Given the description of an element on the screen output the (x, y) to click on. 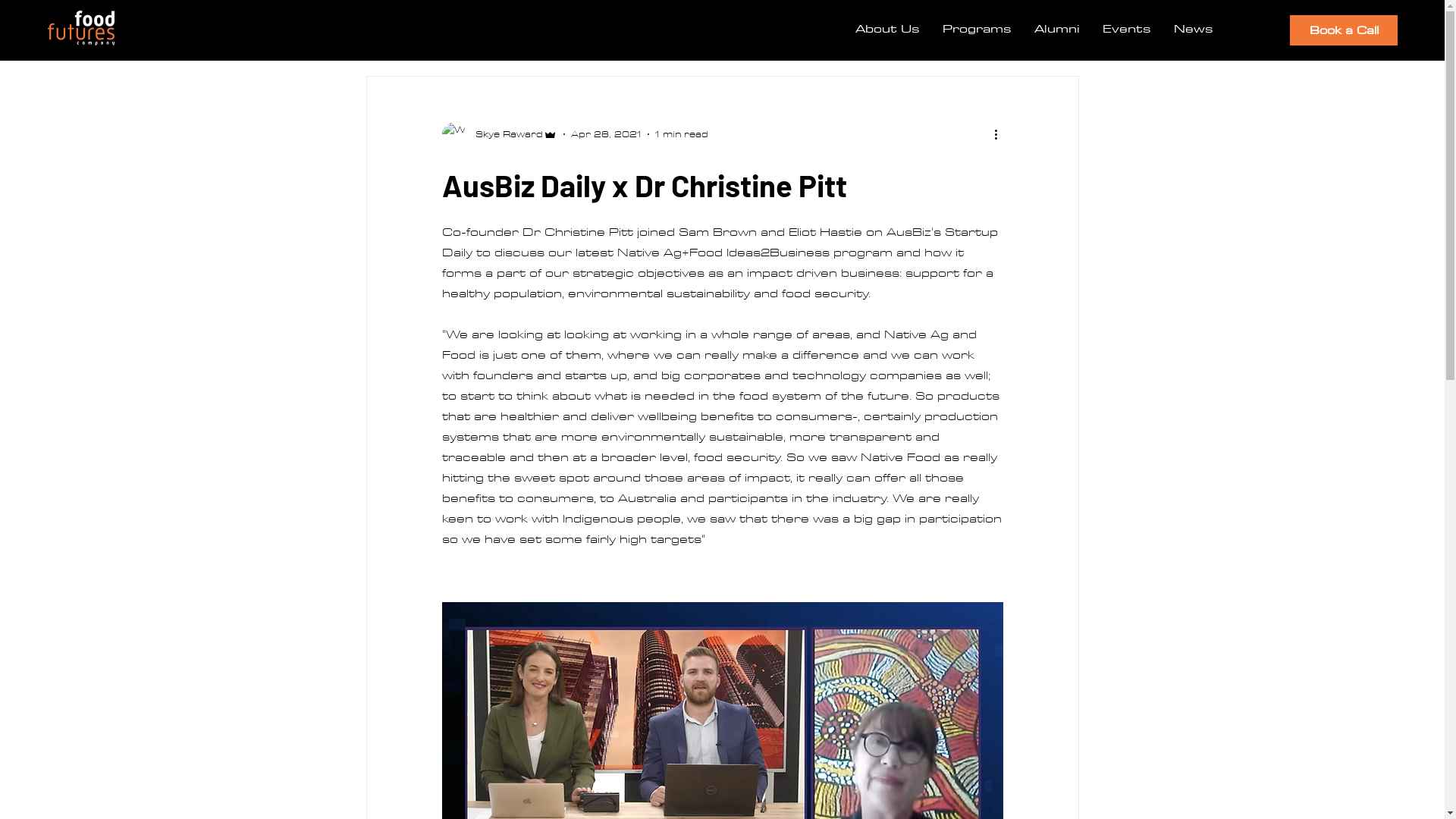
About Us Element type: text (887, 27)
Skye Raward Element type: text (498, 134)
News Element type: text (1193, 27)
Book a Call Element type: text (1343, 30)
